Given the description of an element on the screen output the (x, y) to click on. 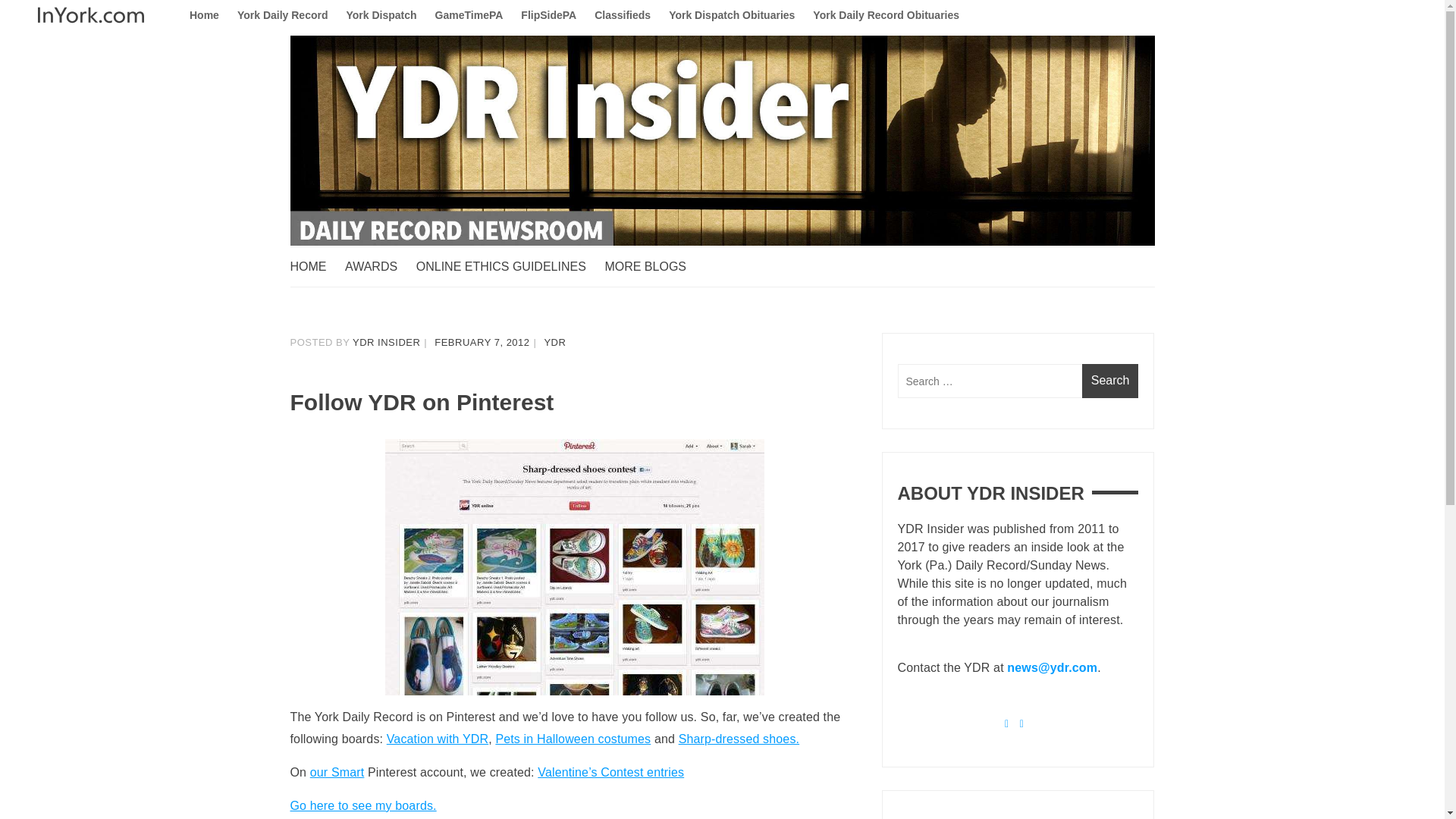
HOME (314, 266)
Sharp-dressed shoes. (738, 738)
our Smart (337, 771)
YDR INSIDER (386, 342)
FEBRUARY 7, 2012 (481, 342)
AWARDS (378, 266)
YDR (554, 342)
MORE BLOGS (652, 266)
Search (1109, 380)
YDR Insider (357, 275)
Search (1109, 380)
Pets in Halloween costumes (572, 738)
ONLINE ETHICS GUIDELINES (508, 266)
Vacation with YDR (437, 738)
Go here to see my boards. (362, 805)
